Given the description of an element on the screen output the (x, y) to click on. 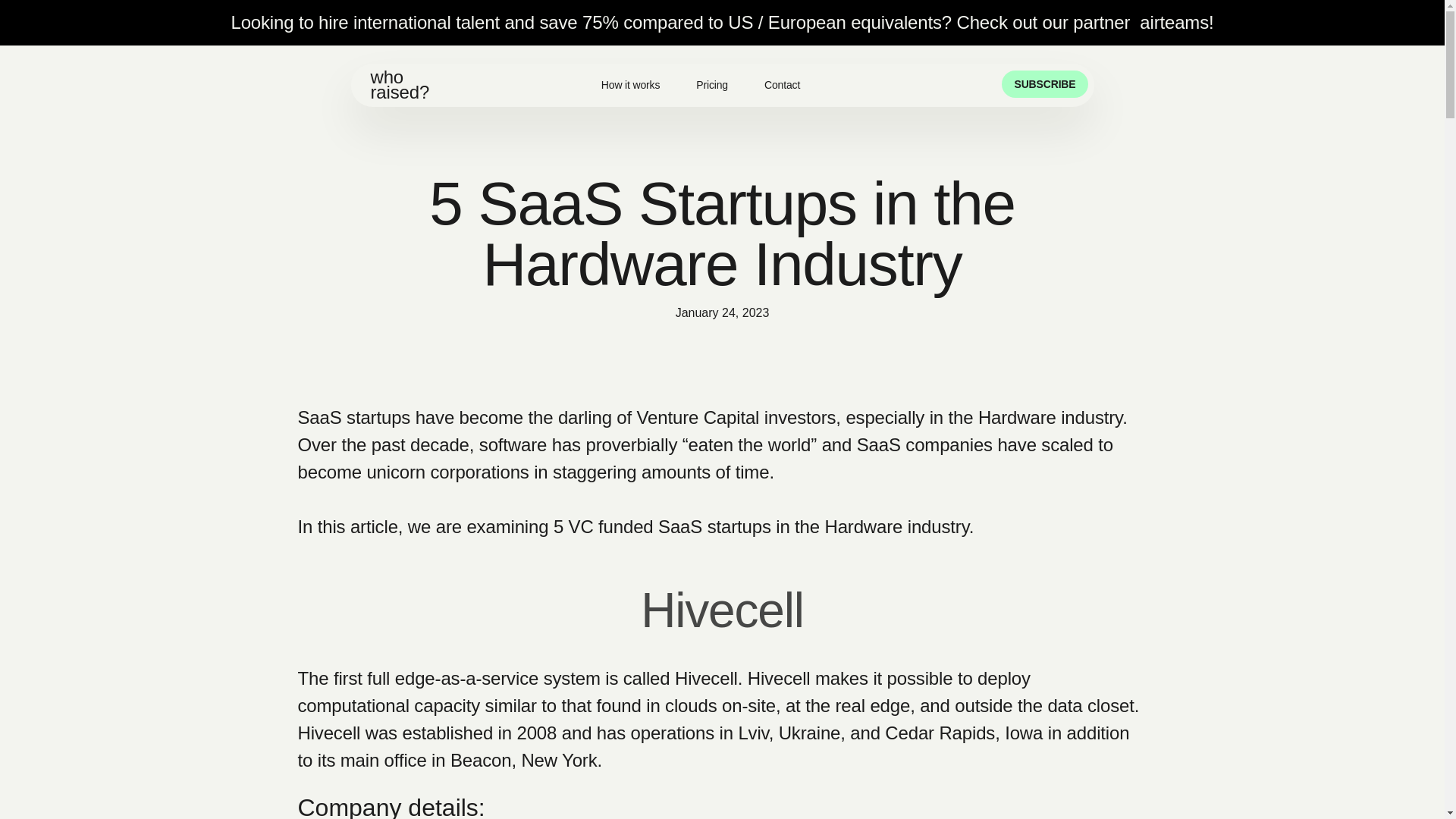
Contact (782, 84)
Pricing (711, 84)
How it works (630, 84)
who raised? (380, 84)
SUBSCRIBE (1044, 83)
